Given the description of an element on the screen output the (x, y) to click on. 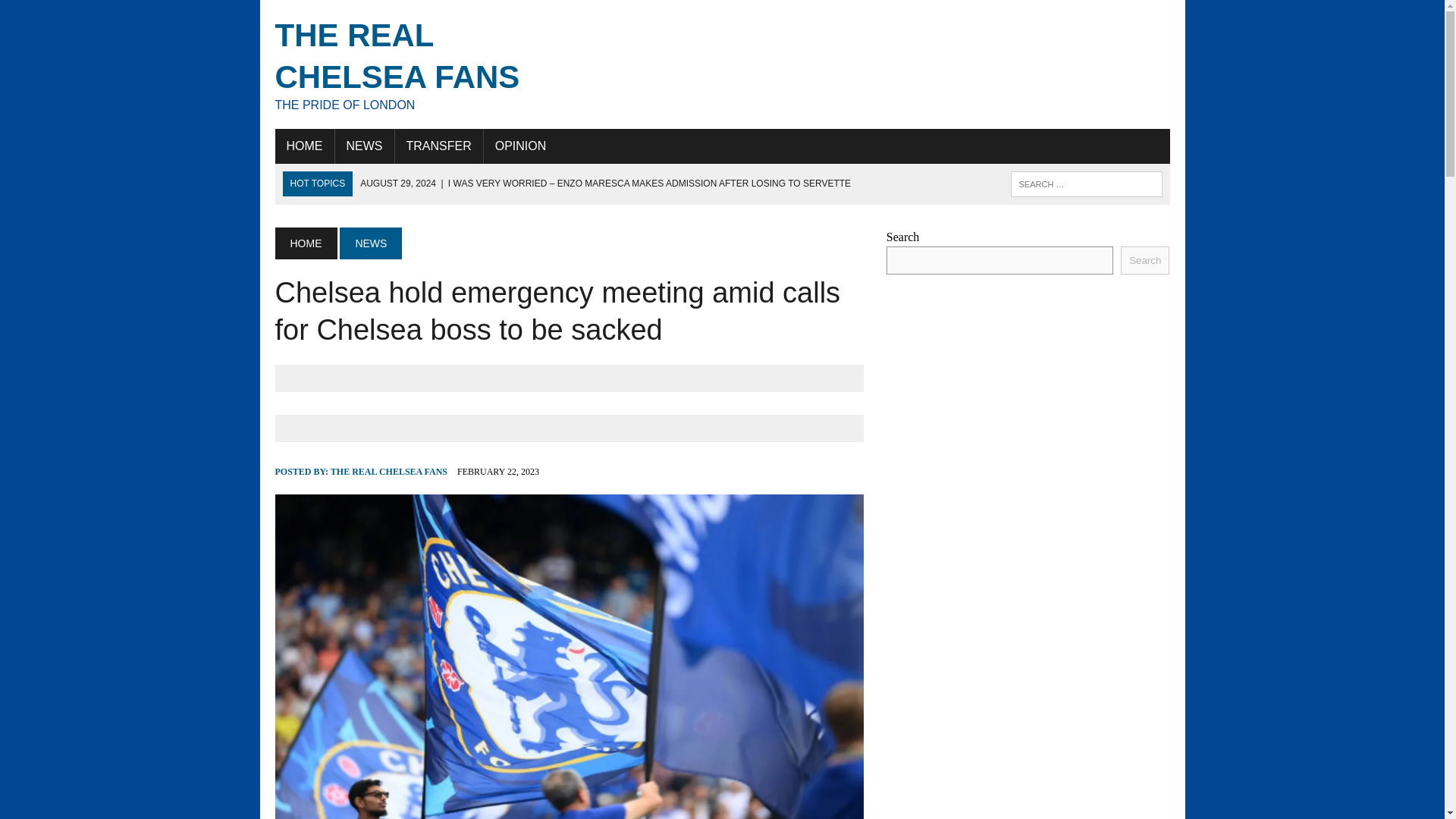
HOME (304, 145)
TRANSFER (437, 145)
The Real Chelsea Fans (416, 64)
OPINION (416, 64)
Search (520, 145)
NEWS (75, 14)
THE REAL CHELSEA FANS (364, 145)
NEWS (388, 471)
HOME (370, 243)
